Given the description of an element on the screen output the (x, y) to click on. 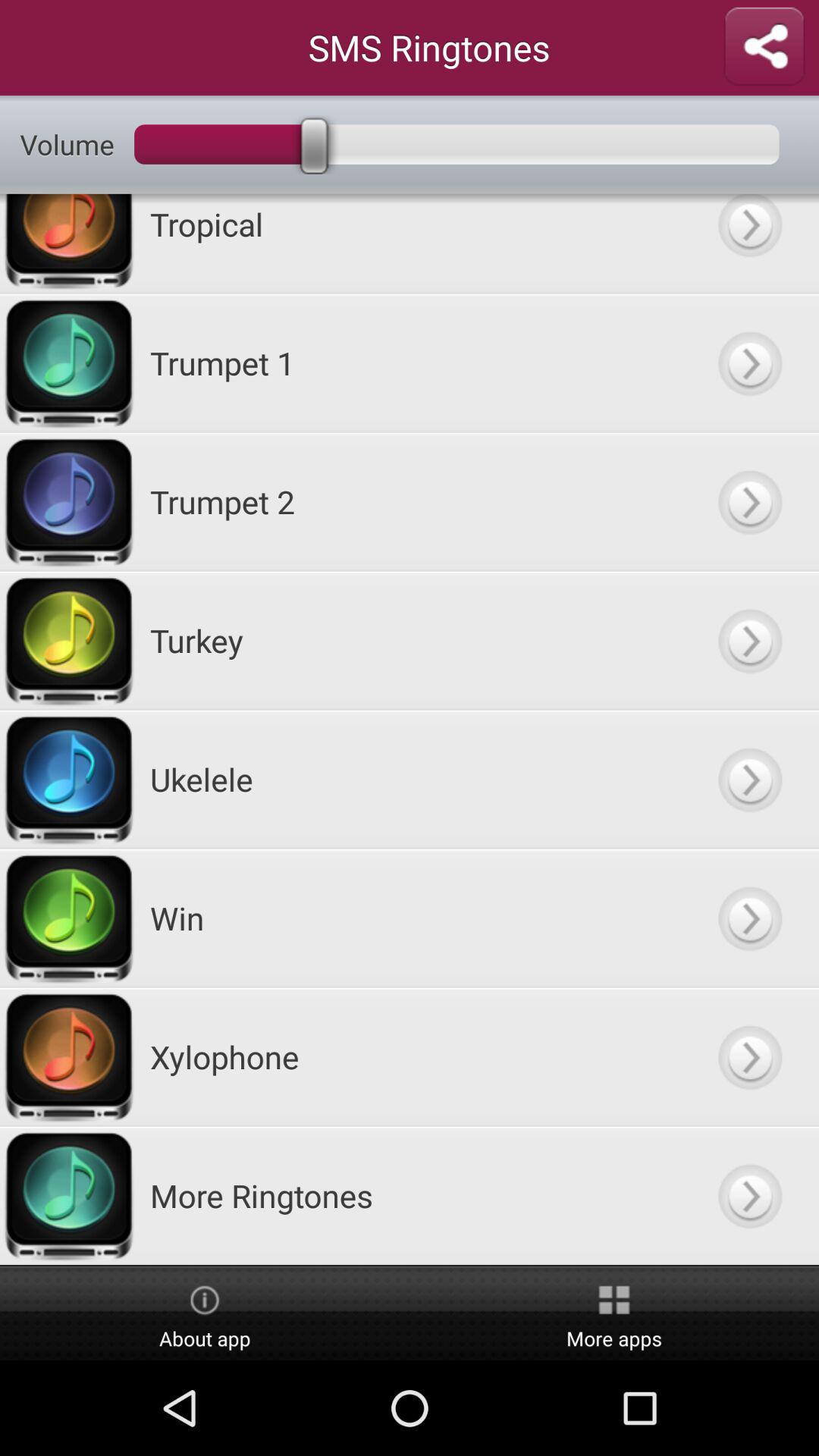
navigate to more ringtones (749, 1195)
